Given the description of an element on the screen output the (x, y) to click on. 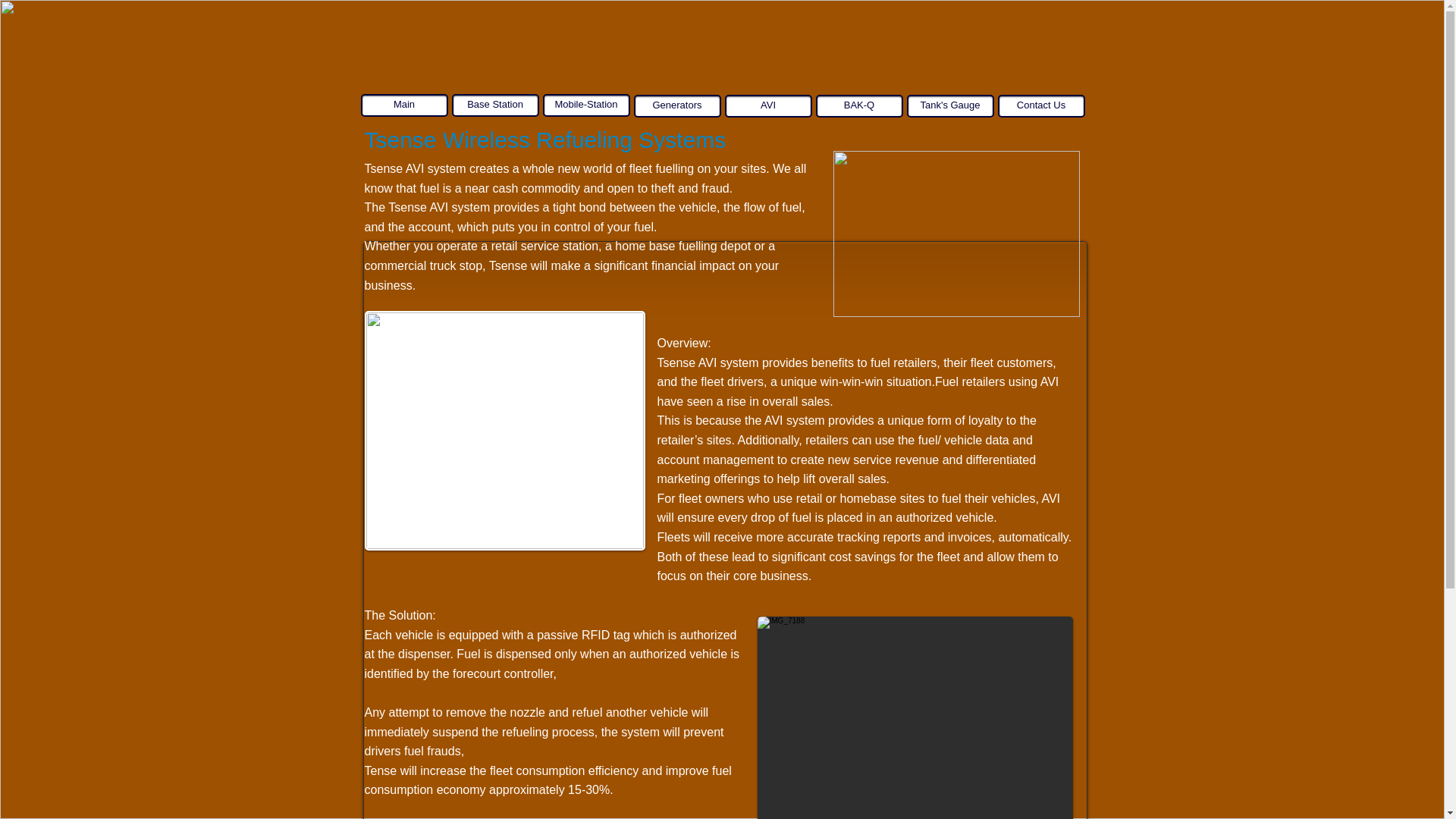
Base Station (494, 105)
AVI (768, 106)
Tank's Gauge (950, 106)
BAK-Q (858, 106)
Main (404, 105)
Contact Us (1040, 106)
Mobile-Station (586, 105)
Generators (676, 106)
